Given the description of an element on the screen output the (x, y) to click on. 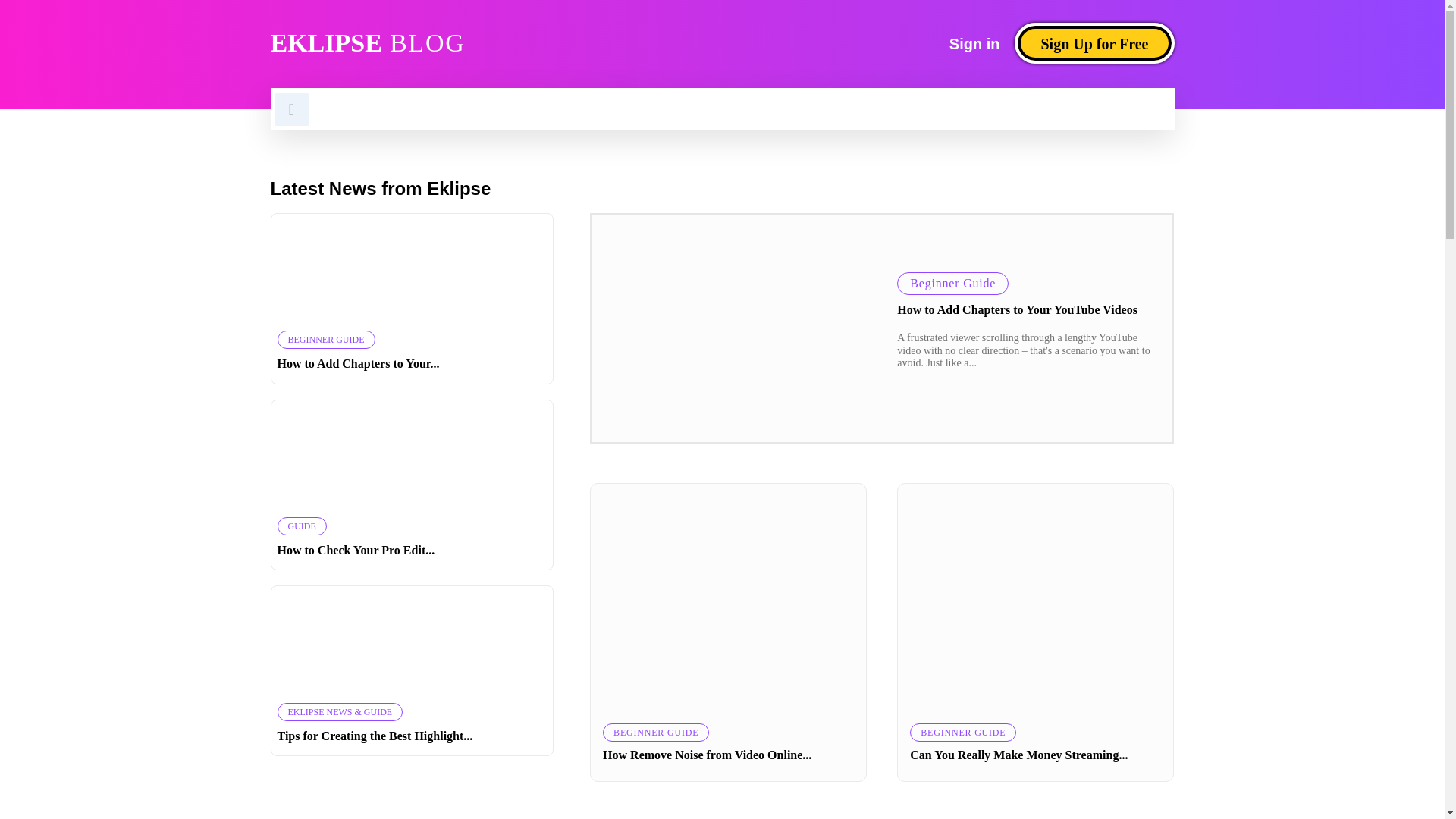
Sign Up for Free (486, 43)
How to Add Chapters to Your YouTube Videos (1093, 42)
How to Check Your Pro Edit Order Status on Eklipse (412, 269)
How to Add Chapters to Your YouTube Videos (356, 549)
How to Add Chapters to Your YouTube Videos (1016, 309)
How to Check Your Pro Edit Order Status on Eklipse (736, 328)
Tips for Creating the Best Highlight with Eklipse (412, 455)
Sign in (375, 735)
Sign in (974, 43)
Tips for Creating the Best Highlight with Eklipse (974, 43)
Sign Up for Free (412, 641)
How to Add Chapters to Your YouTube Videos (1093, 42)
